Given the description of an element on the screen output the (x, y) to click on. 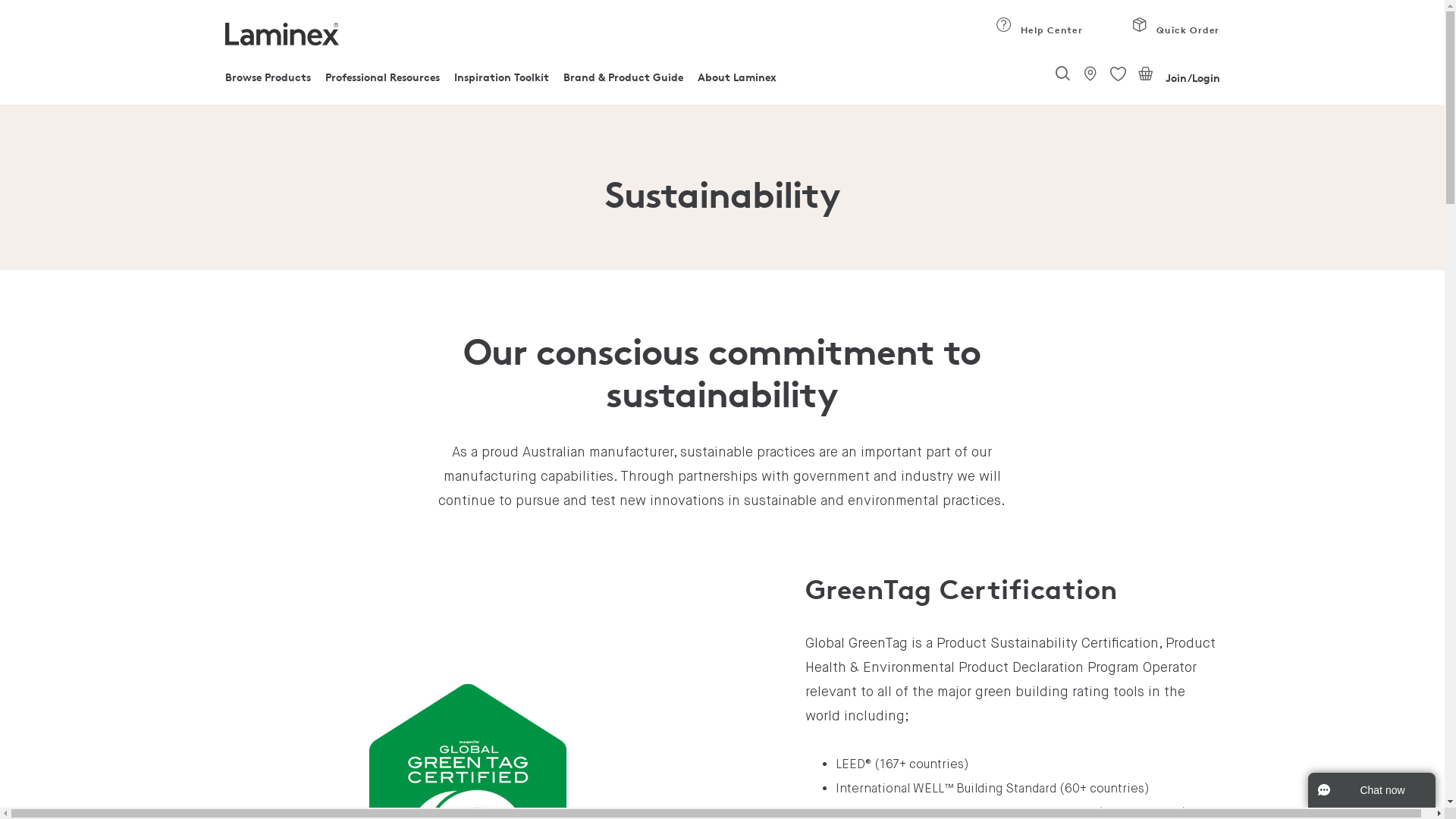
Join/Login Element type: text (1191, 77)
Help Center Element type: hover (1004, 25)
Sample Basket Element type: hover (1145, 73)
Live chat:
Chat now Element type: text (1371, 789)
Browse Products Element type: text (267, 80)
See & Buy Element type: hover (1089, 73)
Laminex logo Element type: hover (281, 33)
Help Center Element type: text (1038, 33)
Search for products or content Element type: hover (1062, 74)
Brand & Product Guide Element type: text (623, 80)
About Laminex Element type: text (736, 80)
Quick Order Element type: hover (1139, 25)
Professional Resources Element type: text (382, 80)
Quick Order Element type: text (1175, 33)
Inspiration Toolkit Element type: text (501, 80)
View Favourites Element type: hover (1118, 74)
